Given the description of an element on the screen output the (x, y) to click on. 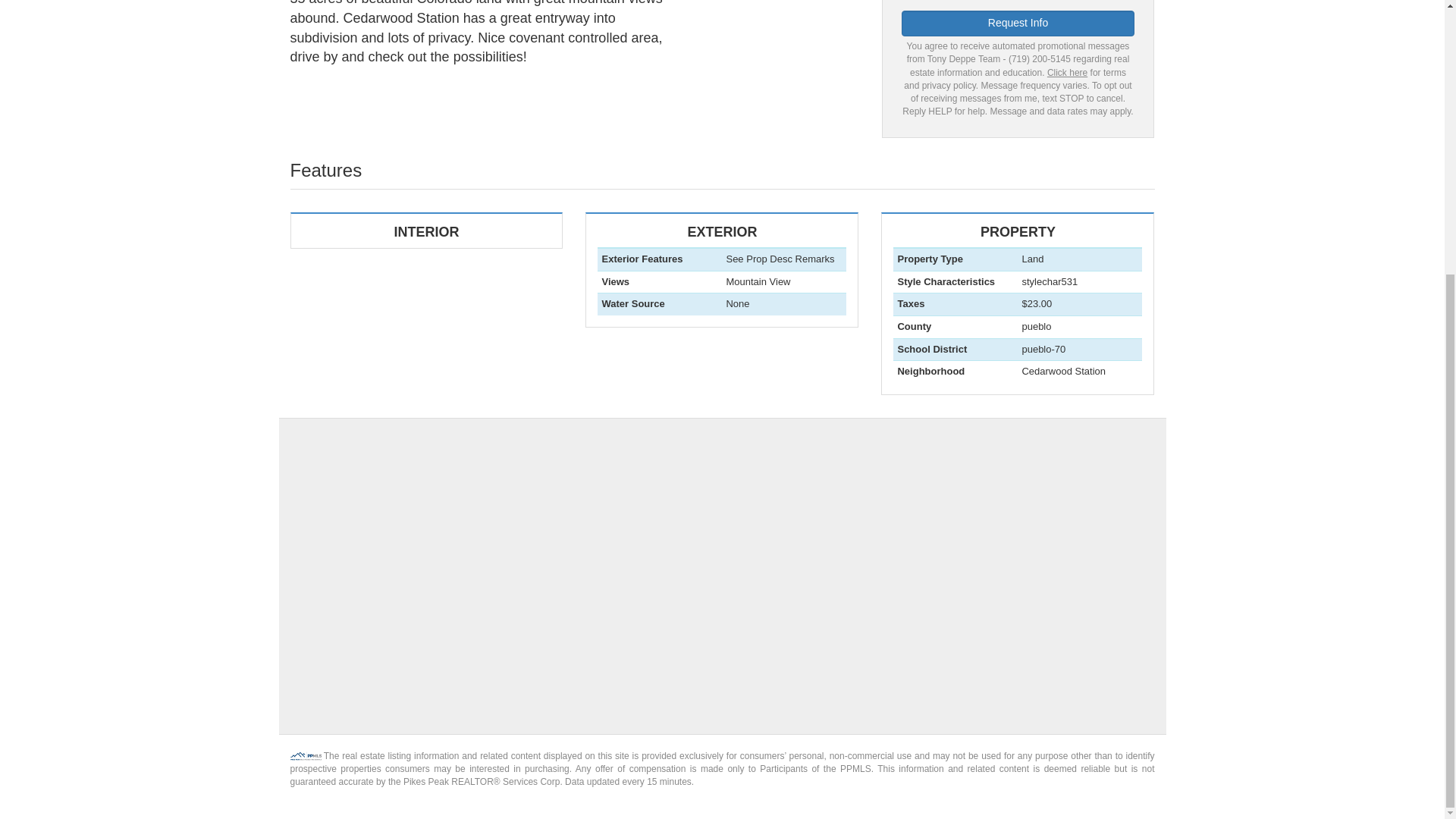
INTERIOR (425, 230)
